Given the description of an element on the screen output the (x, y) to click on. 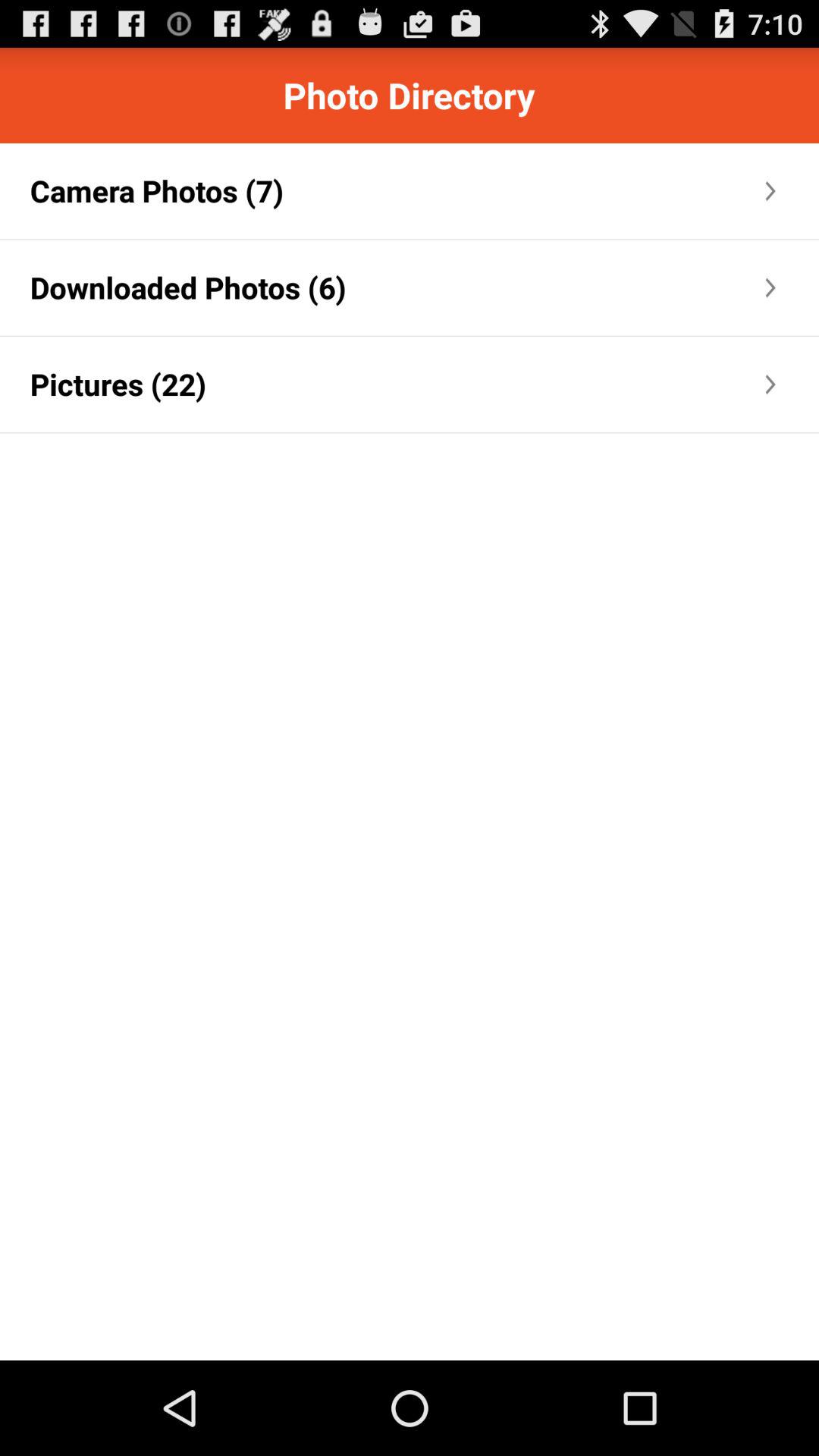
scroll until the downloaded photos (6) (188, 287)
